Given the description of an element on the screen output the (x, y) to click on. 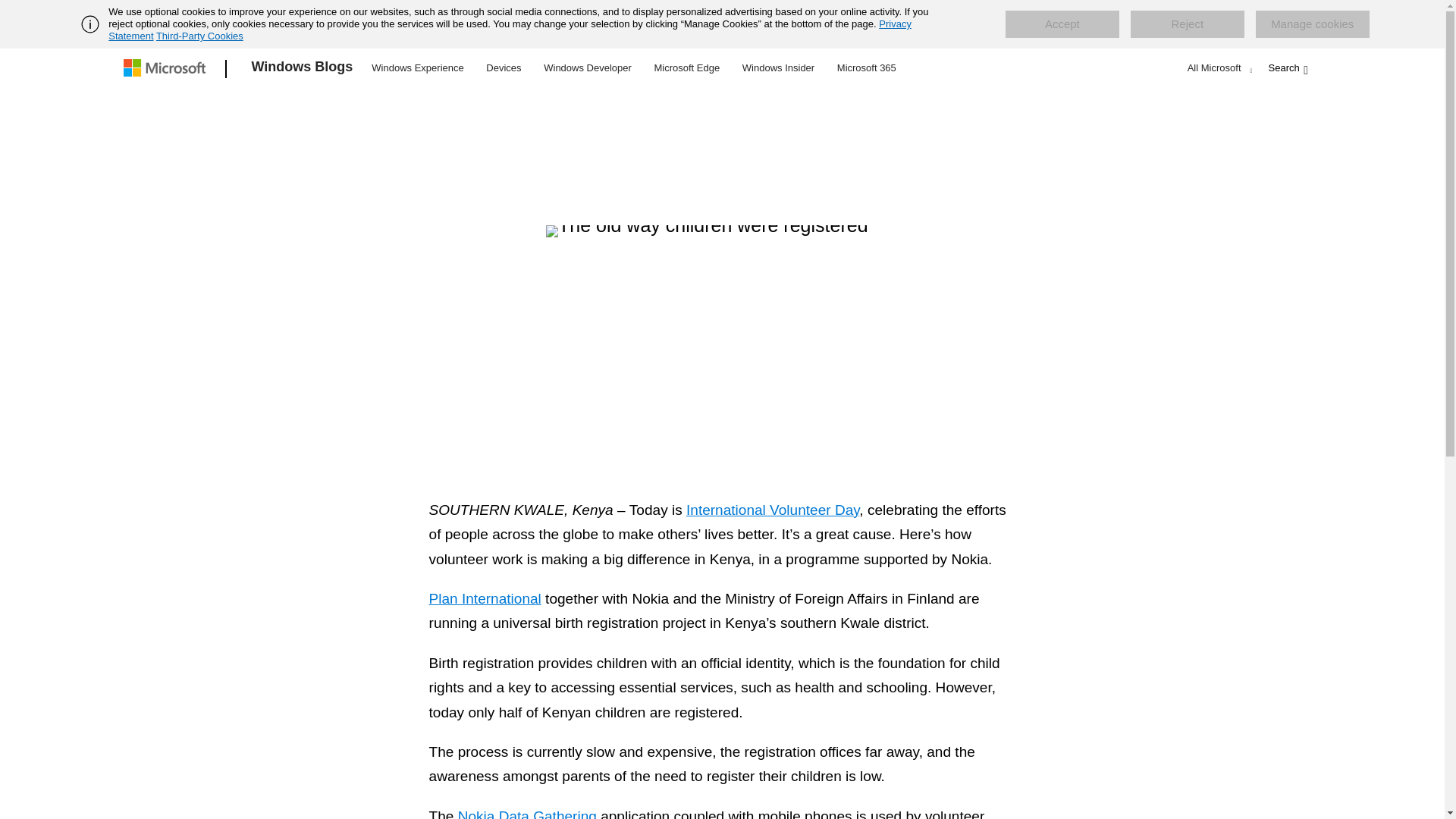
Manage cookies (1312, 23)
Devices (503, 67)
Third-Party Cookies (199, 35)
Accept (1062, 23)
Microsoft Edge (686, 67)
Windows Developer (588, 67)
Privacy Statement (509, 29)
Microsoft (167, 69)
Windows Insider (778, 67)
Microsoft 365 (865, 67)
Windows Blogs (302, 69)
The old way children were registered (722, 338)
Reject (1187, 23)
All Microsoft (1217, 67)
Windows Experience (417, 67)
